Given the description of an element on the screen output the (x, y) to click on. 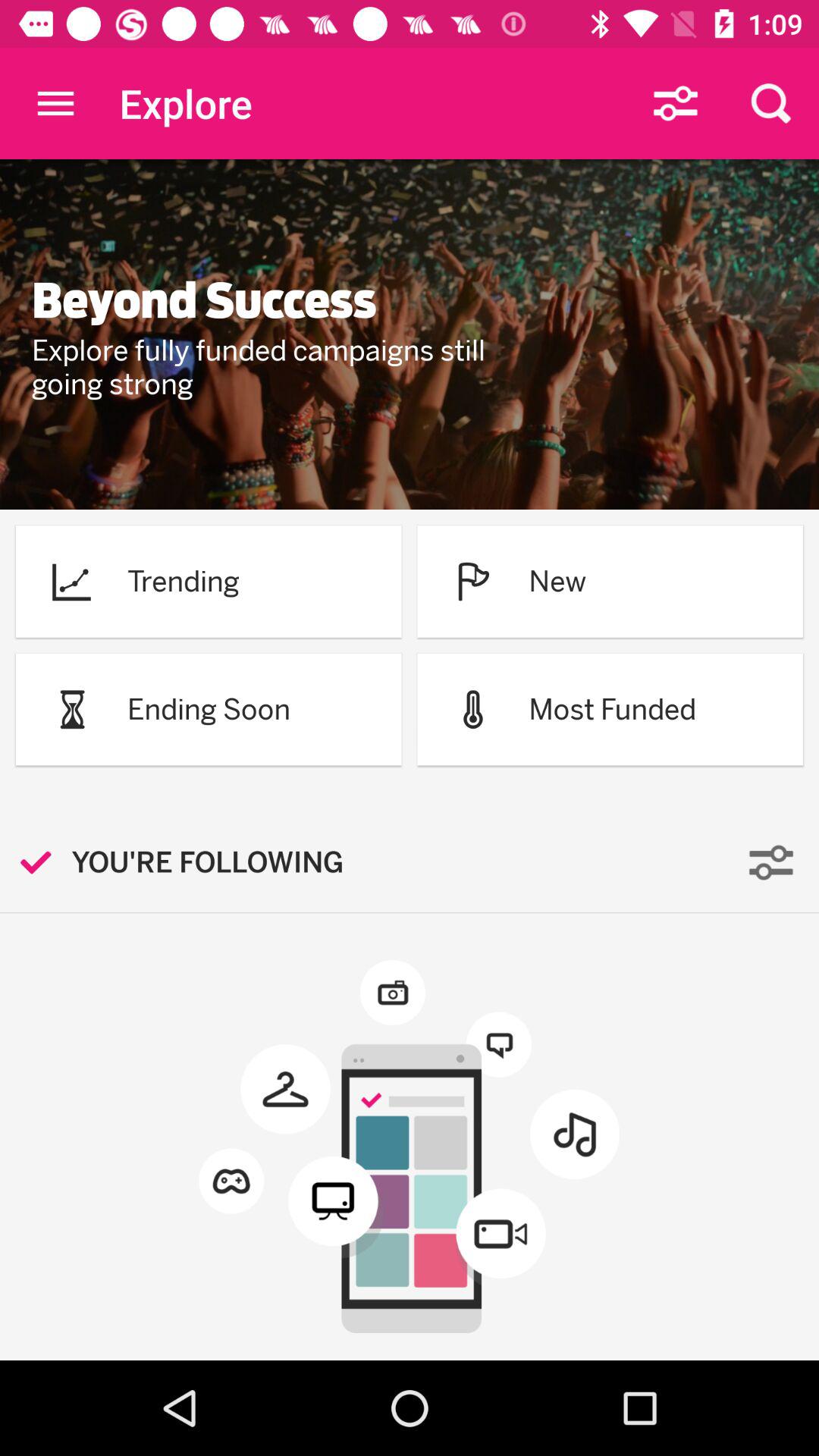
launch the item above most funded (557, 581)
